Given the description of an element on the screen output the (x, y) to click on. 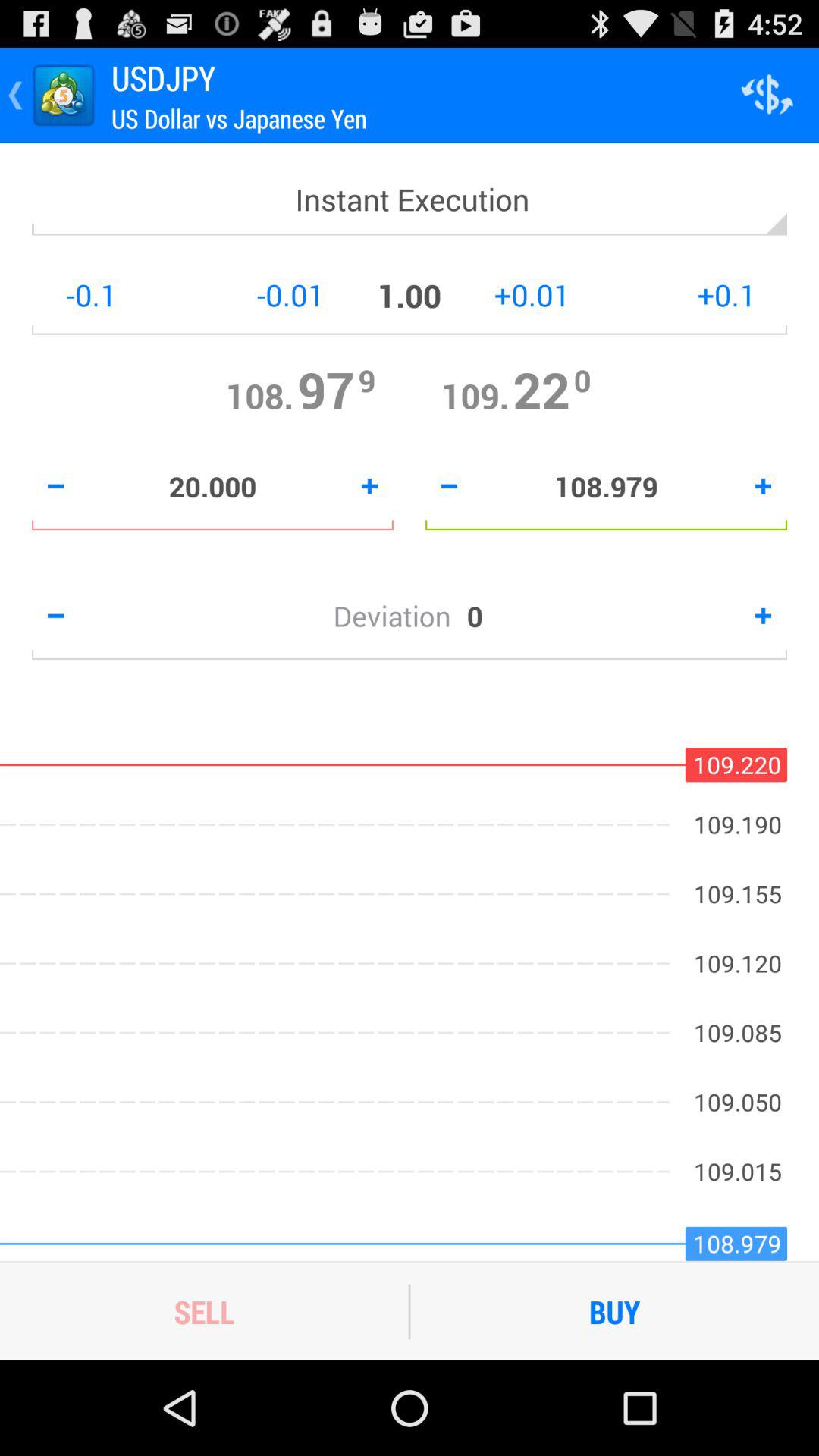
turn on the icon next to the 0 (399, 615)
